Given the description of an element on the screen output the (x, y) to click on. 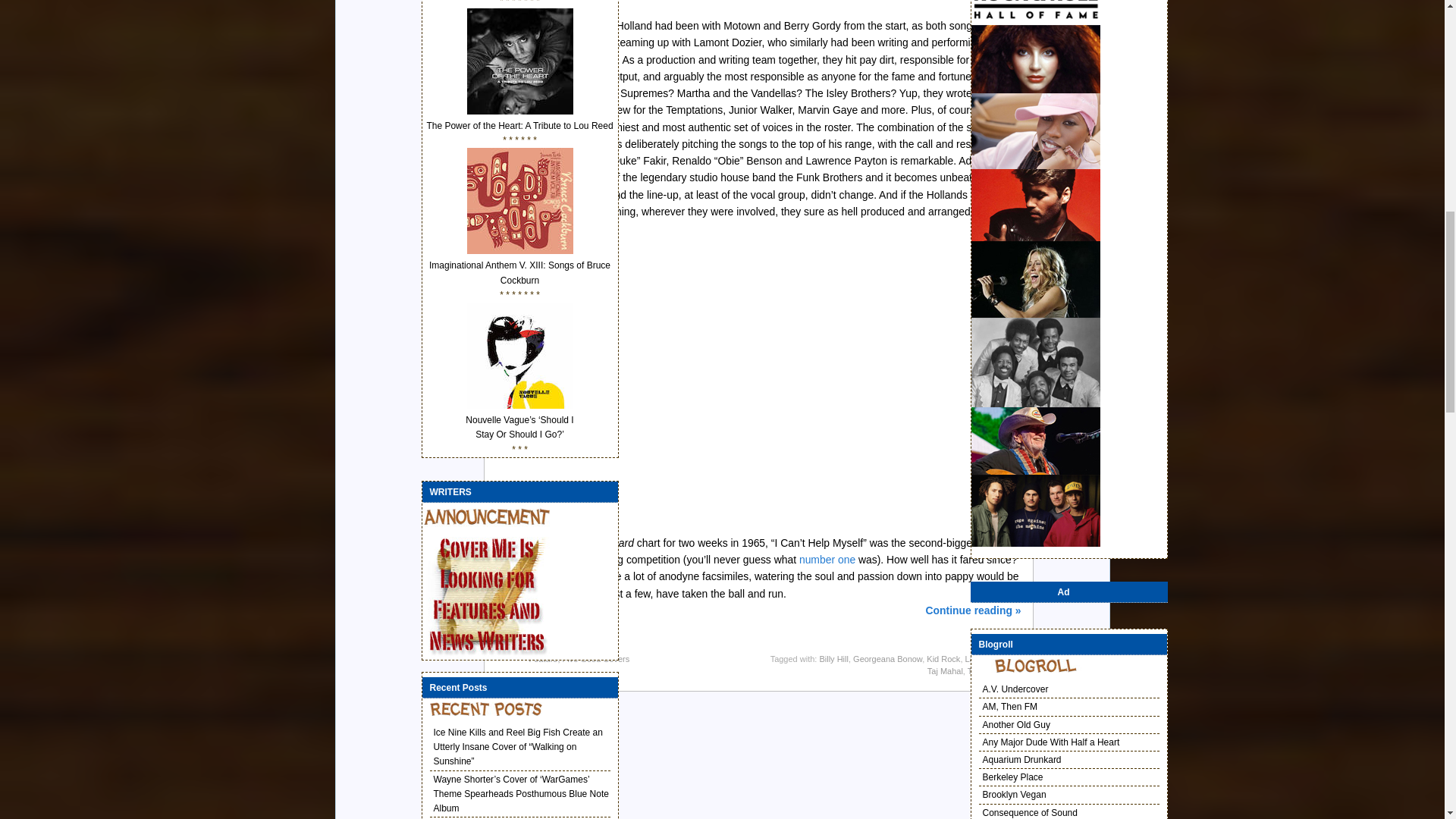
number one (827, 559)
Billy Hill (833, 658)
Five Good Covers (596, 658)
Georgeana Bonow (887, 658)
YouTube video player (732, 385)
Taj Mahal (944, 670)
Lamont Dozier (990, 658)
Kid Rock (942, 658)
Feature (543, 658)
The Four Tops (995, 670)
